Given the description of an element on the screen output the (x, y) to click on. 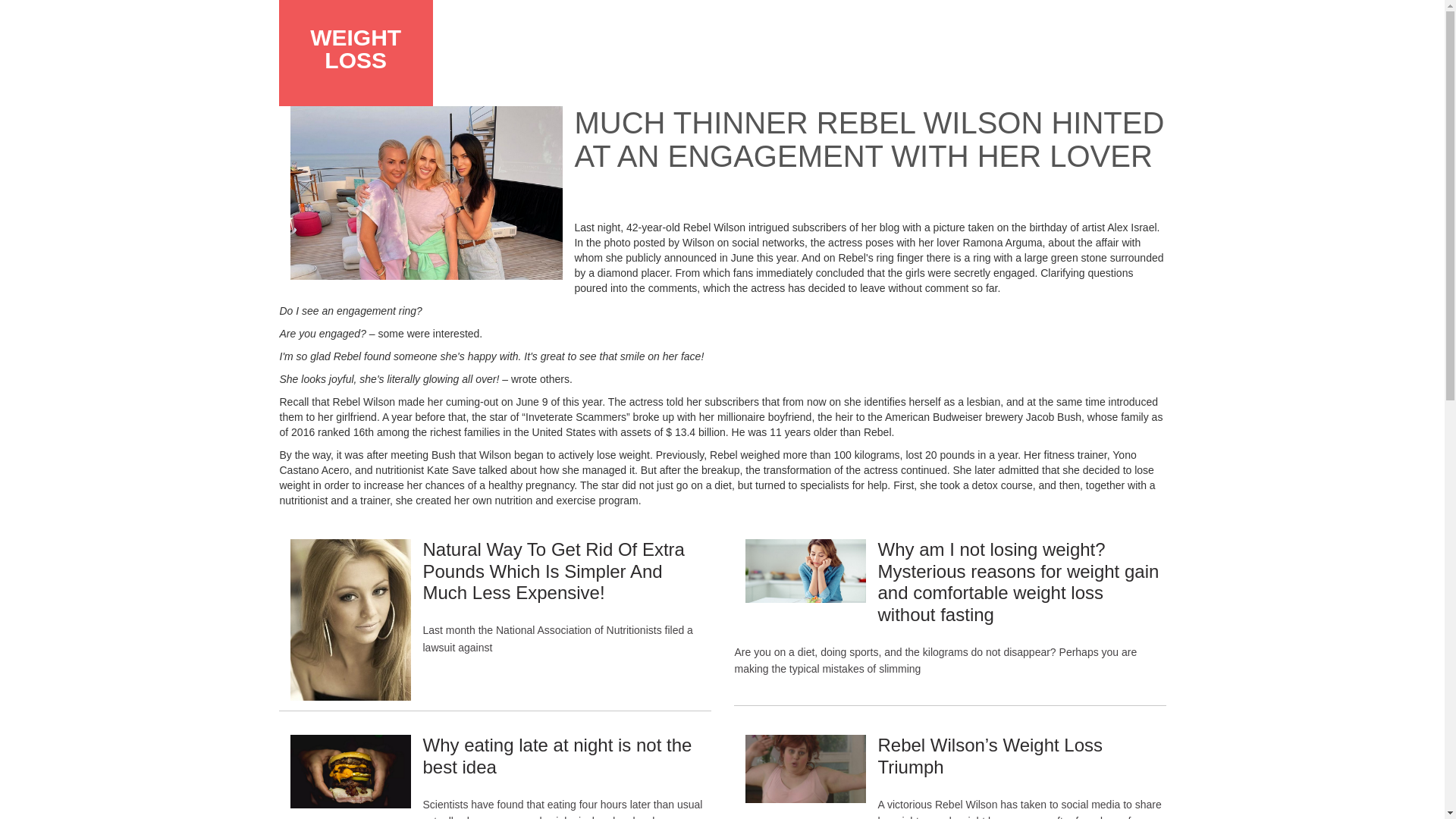
WEIGHT LOSS (355, 48)
Why eating late at night is not the best idea (556, 755)
